Given the description of an element on the screen output the (x, y) to click on. 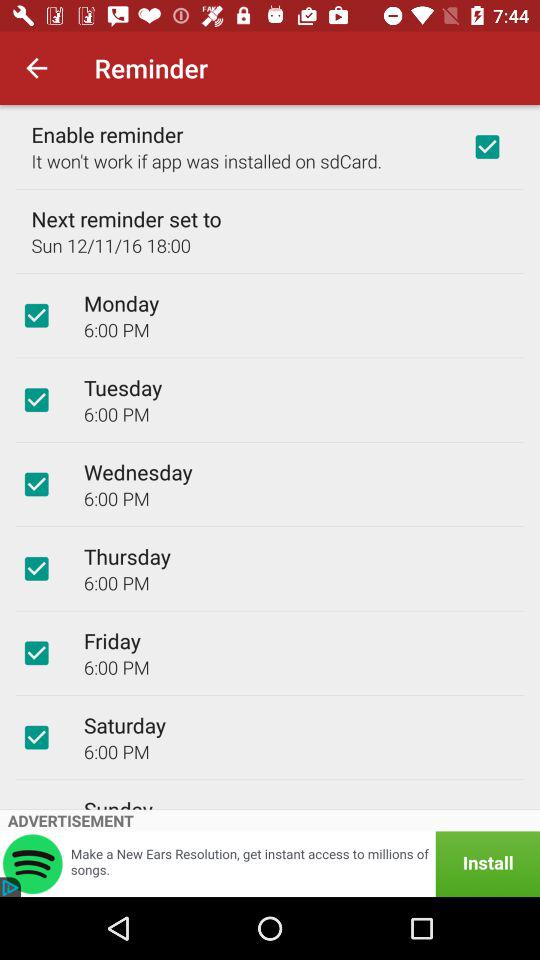
select option bar (36, 737)
